Given the description of an element on the screen output the (x, y) to click on. 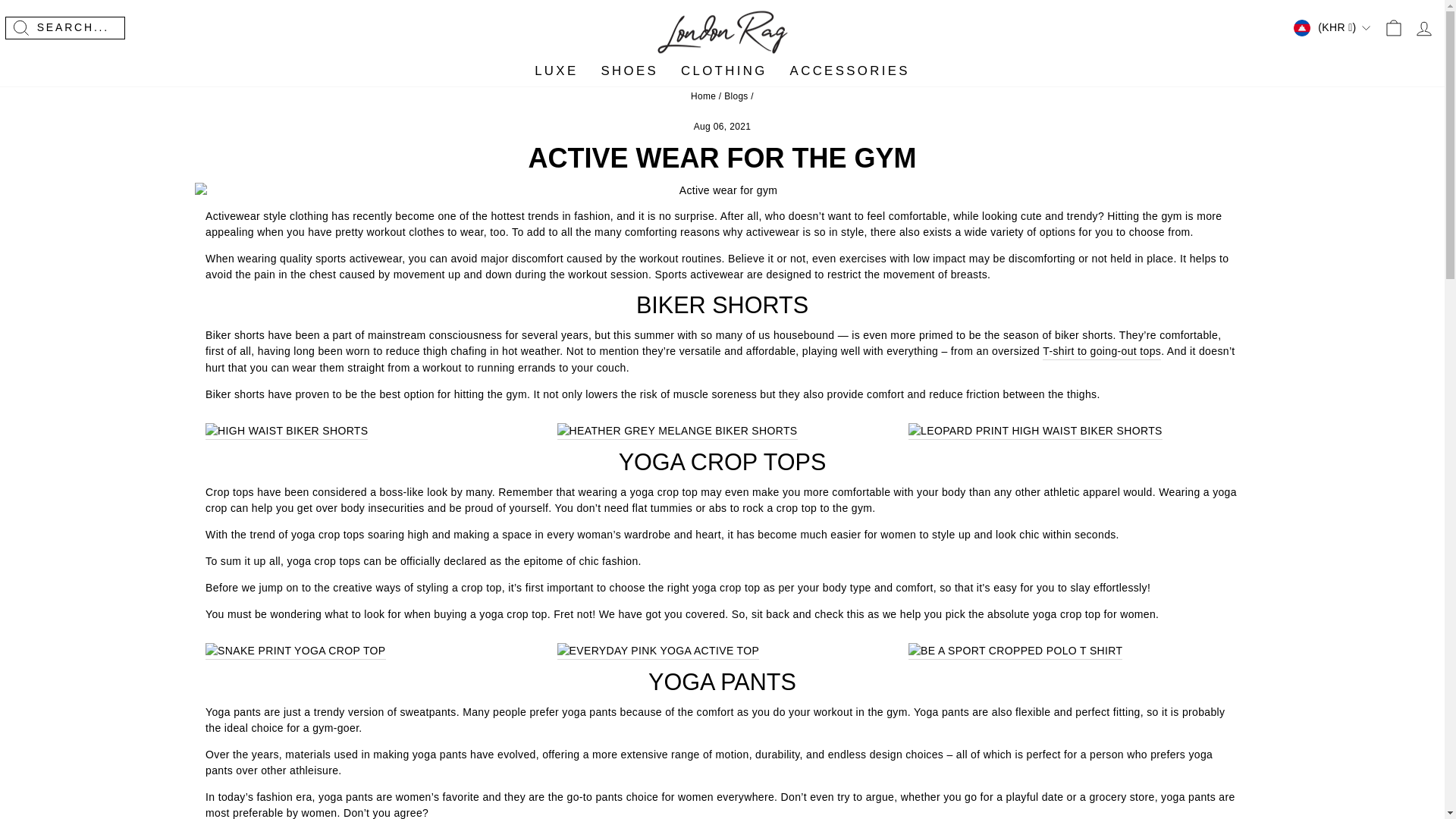
ACCOUNT (1423, 28)
Back to the frontpage (703, 95)
ICON-BAG-MINIMAL (1394, 27)
